Given the description of an element on the screen output the (x, y) to click on. 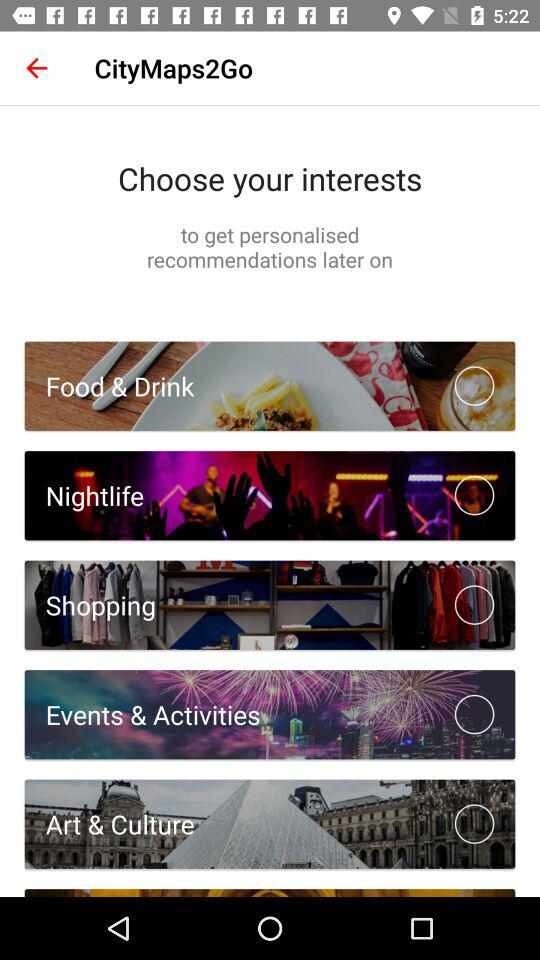
press art & culture item (109, 823)
